Given the description of an element on the screen output the (x, y) to click on. 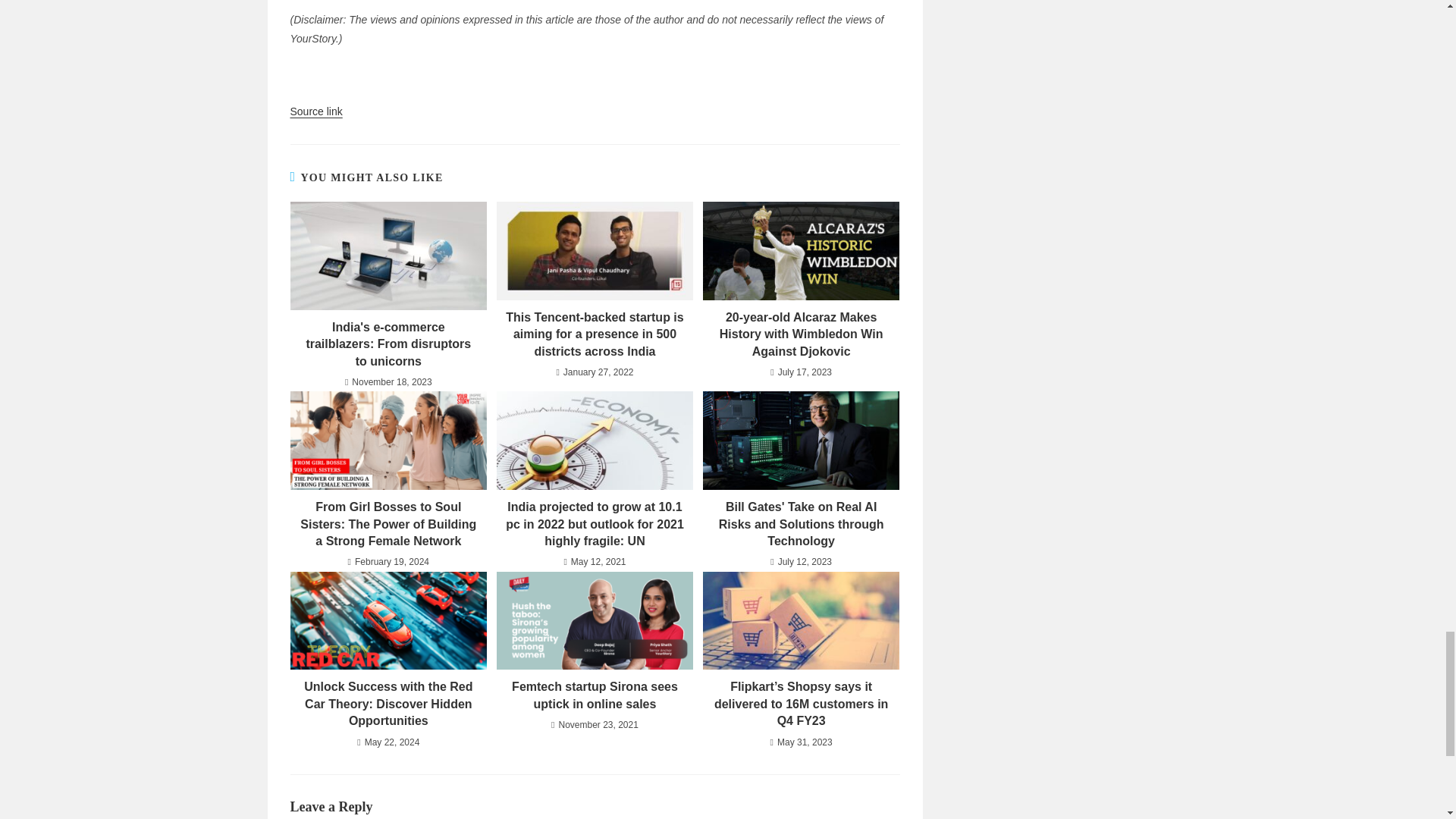
Femtech startup Sirona sees uptick in online sales (594, 695)
India's e-commerce trailblazers: From disruptors to unicorns (387, 344)
Source link (315, 111)
